Given the description of an element on the screen output the (x, y) to click on. 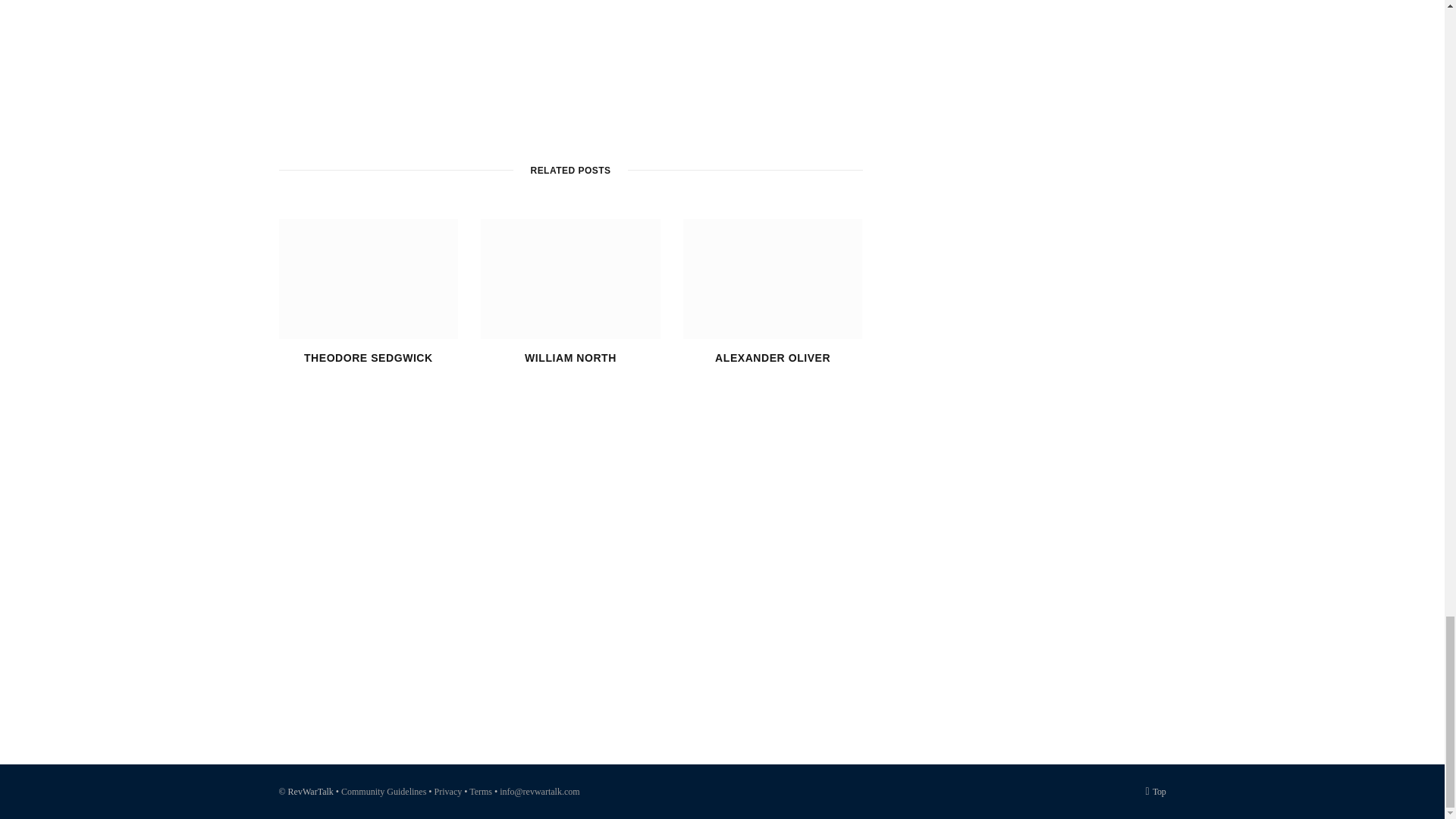
WILLIAM NORTH (569, 357)
THEODORE SEDGWICK (368, 357)
